Given the description of an element on the screen output the (x, y) to click on. 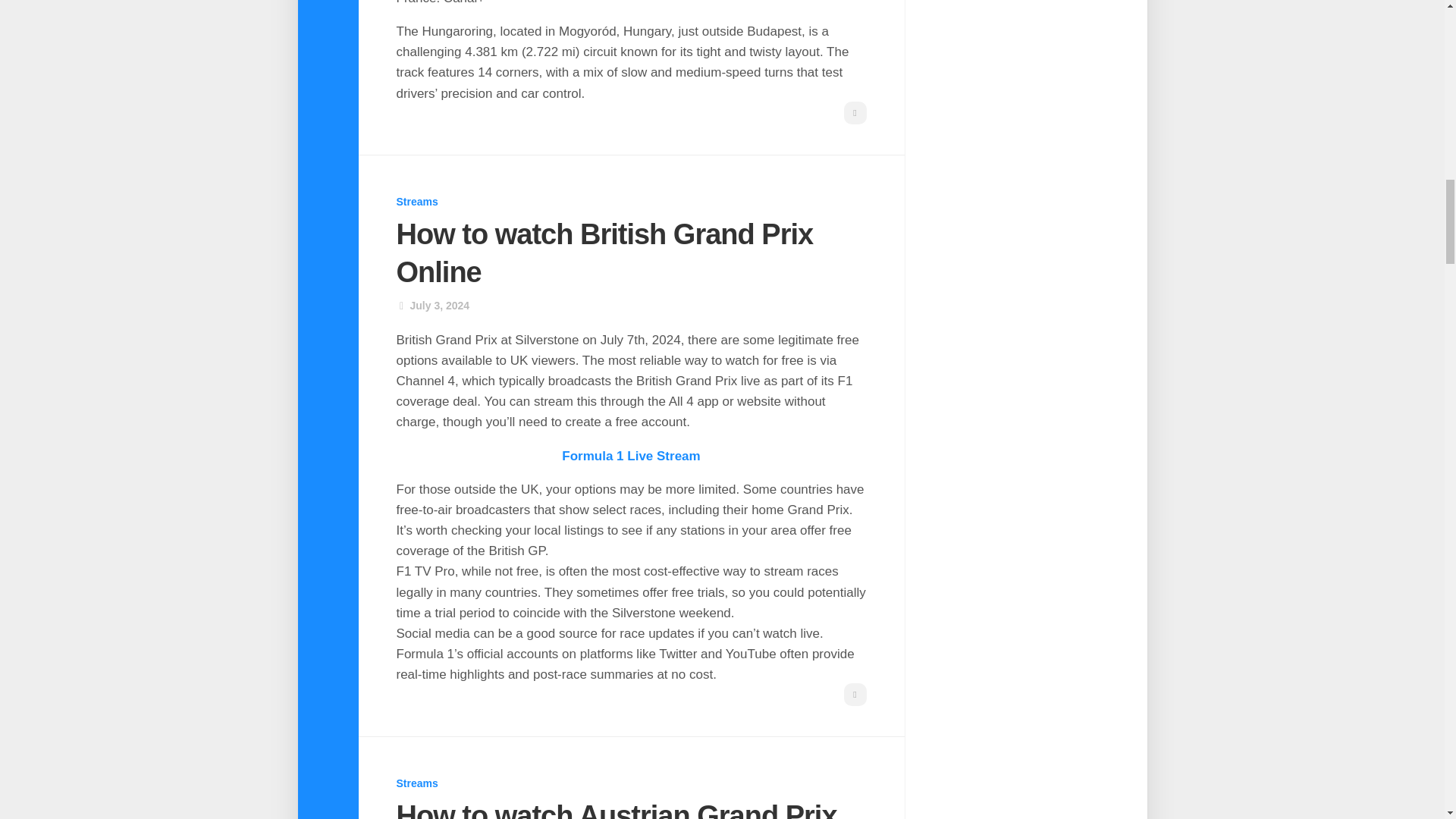
Formula 1 Live Stream (631, 455)
Streams (417, 201)
How to watch Austrian Grand Prix Online (615, 809)
How to watch British Grand Prix Online (604, 252)
Streams (417, 783)
